Given the description of an element on the screen output the (x, y) to click on. 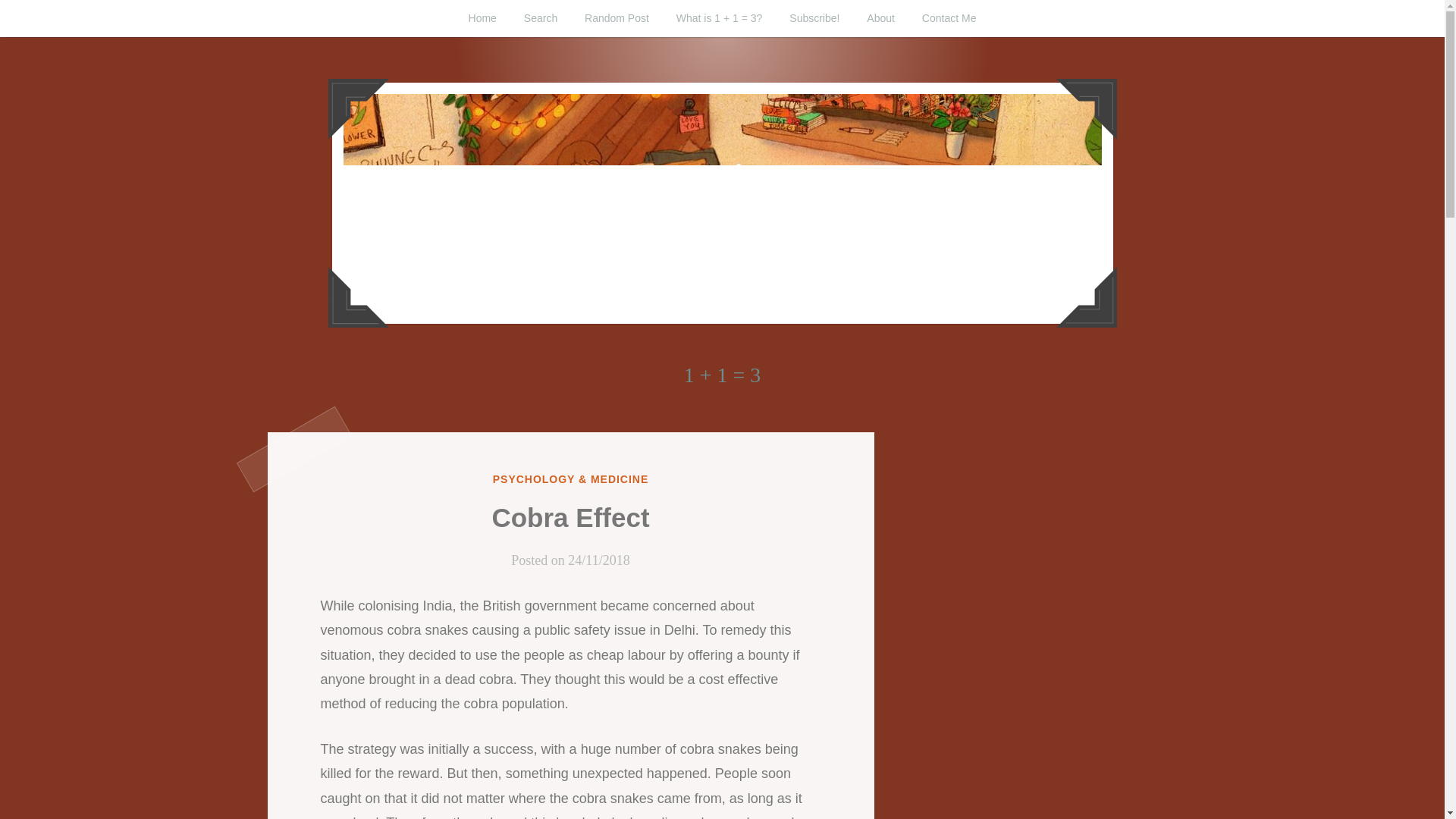
Random Post (616, 18)
Home (482, 18)
Search (540, 18)
About (880, 18)
Contact Me (949, 18)
Subscribe! (814, 18)
